Given the description of an element on the screen output the (x, y) to click on. 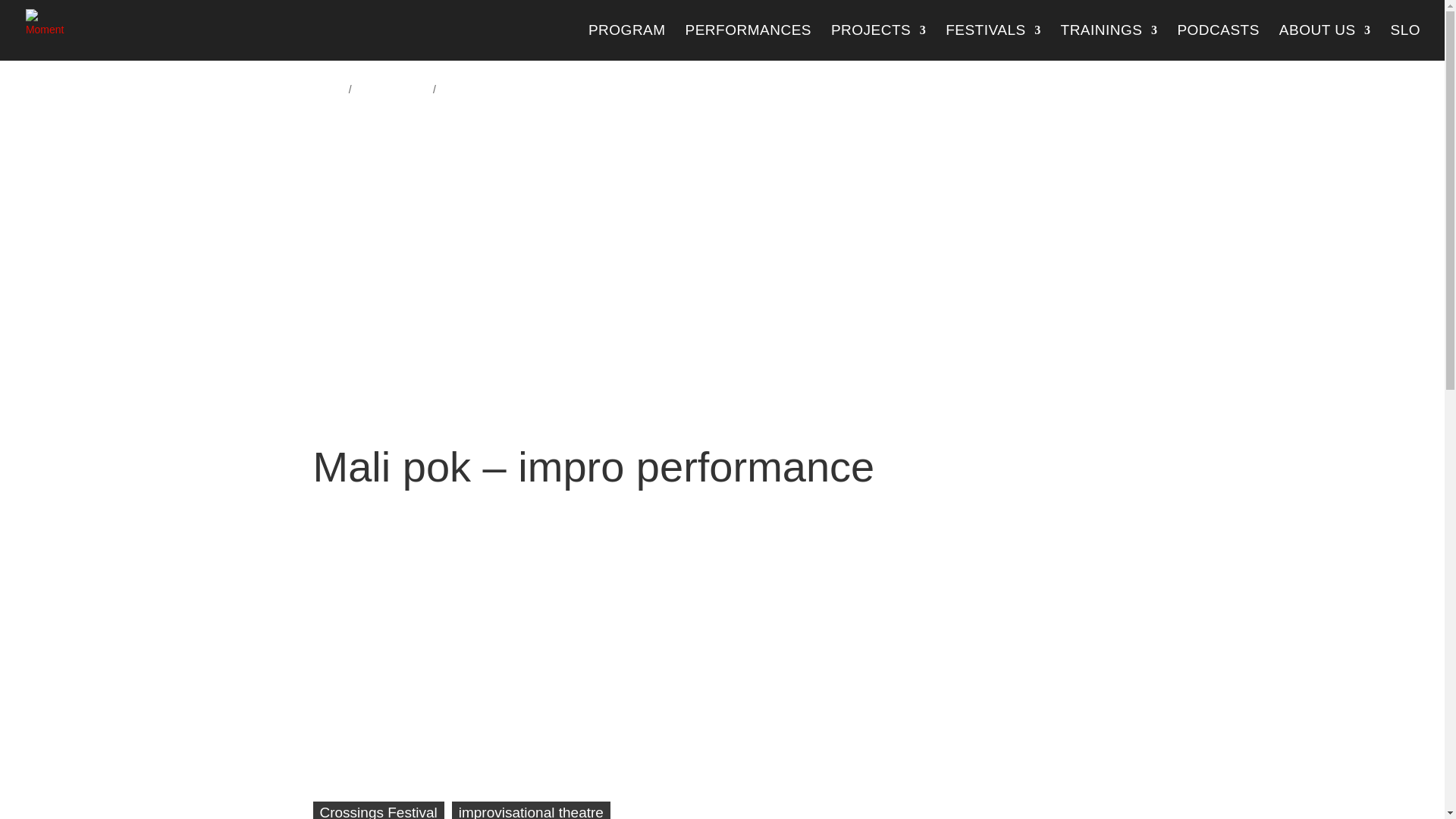
PROGRAM (626, 42)
ABOUT US (1325, 42)
Performances (392, 90)
TRAININGS (1109, 42)
FESTIVALS (992, 42)
PROJECTS (878, 42)
PERFORMANCES (747, 42)
Home (326, 90)
PODCASTS (1217, 42)
